Given the description of an element on the screen output the (x, y) to click on. 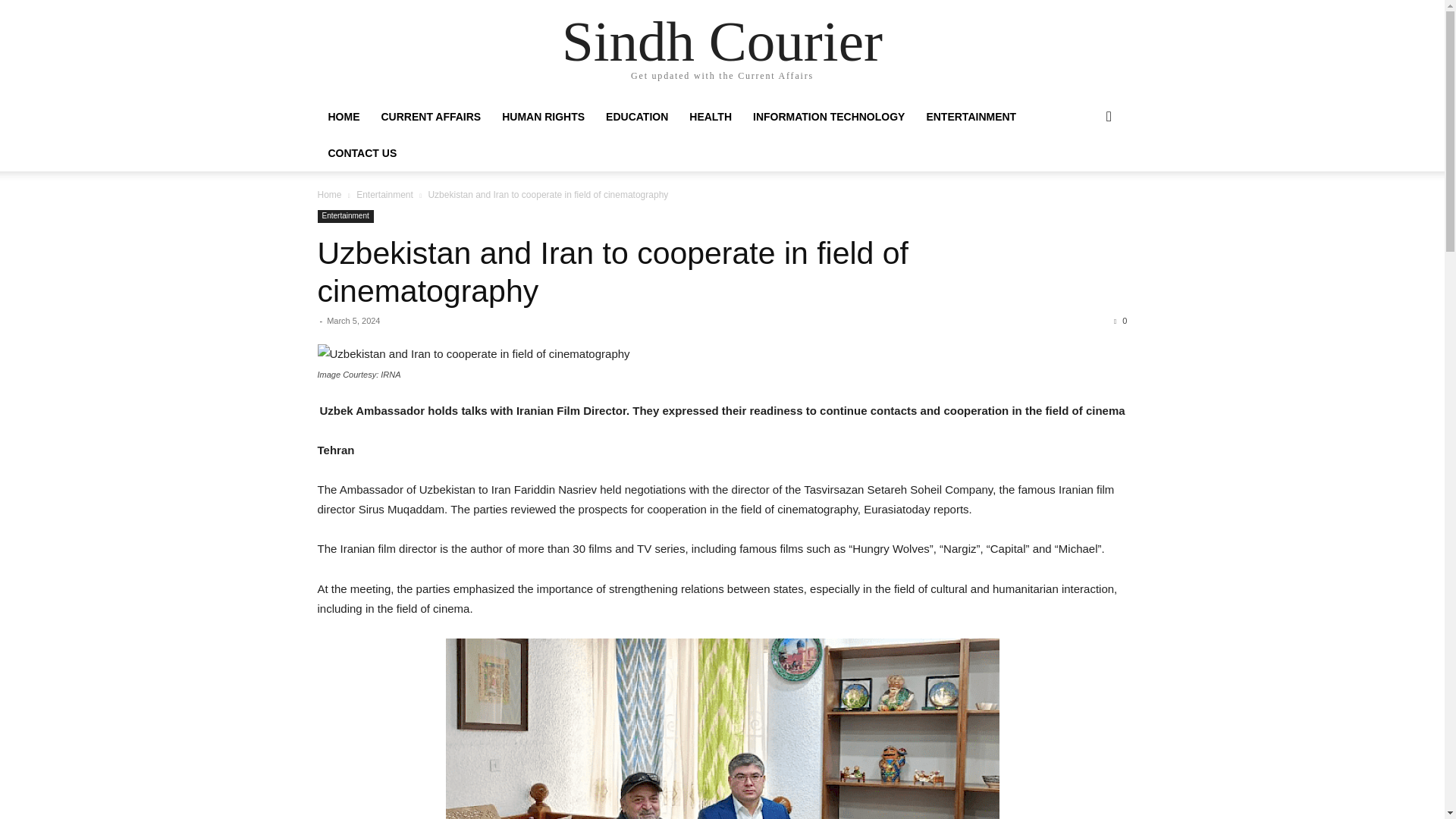
Uzbekistan and Iran to cooperate in field of cinematography (612, 271)
HOME (343, 116)
INFORMATION TECHNOLOGY (828, 116)
Sindh Courier (722, 41)
View all posts in Entertainment (384, 194)
Uzbekistan and Iran to cooperate in field of cinematography (612, 271)
Entertainment (344, 215)
CURRENT AFFAIRS (430, 116)
HEALTH (710, 116)
Uzbekistan and Iran to cooperate in field of cinematography (721, 353)
ENTERTAINMENT (970, 116)
EDUCATION (636, 116)
Home (328, 194)
Search (1085, 177)
0 (1119, 320)
